Given the description of an element on the screen output the (x, y) to click on. 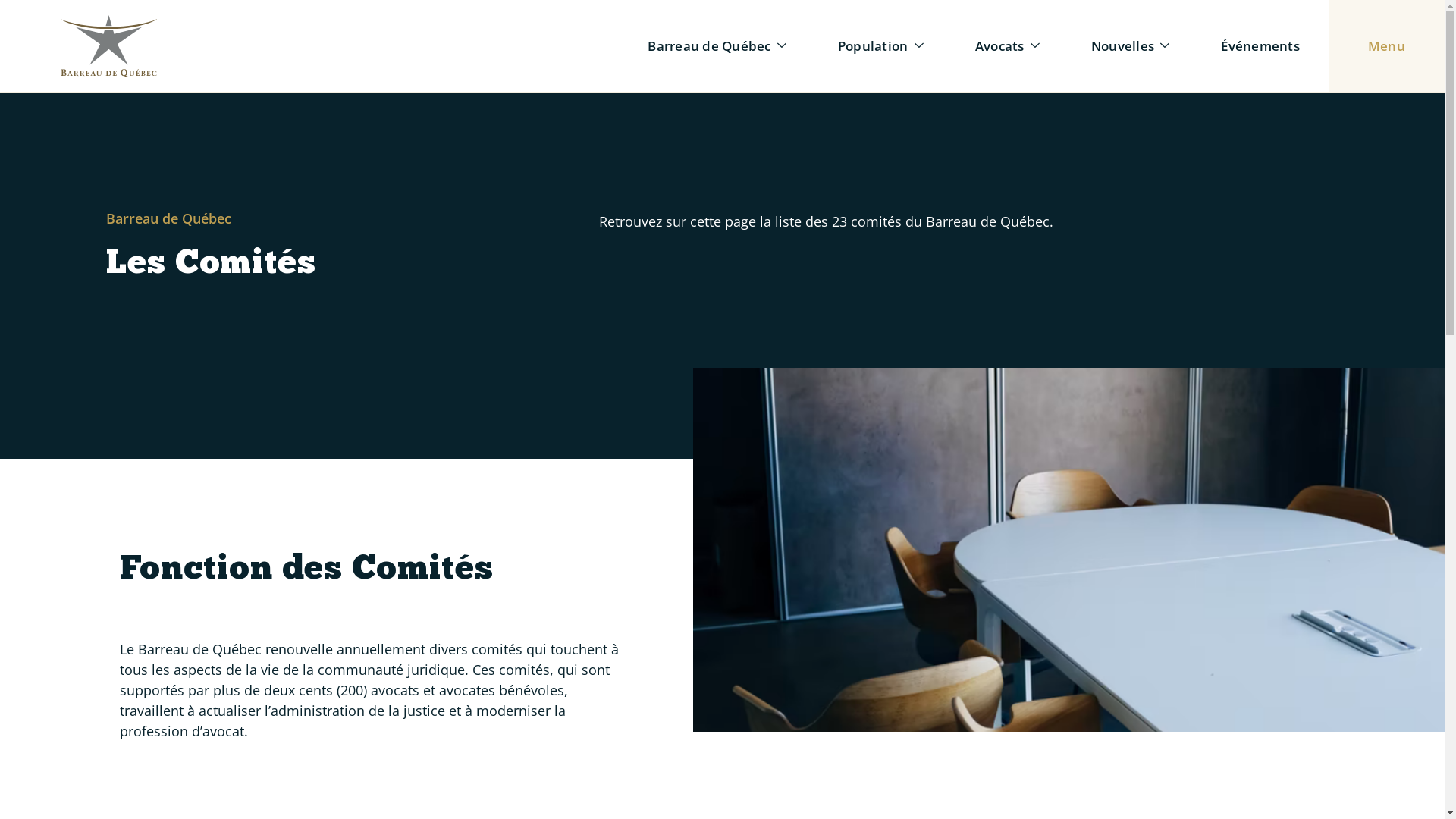
Avocats Element type: text (995, 45)
Population Element type: text (868, 45)
Nouvelles Element type: text (1118, 45)
Menu Element type: text (1378, 45)
